Given the description of an element on the screen output the (x, y) to click on. 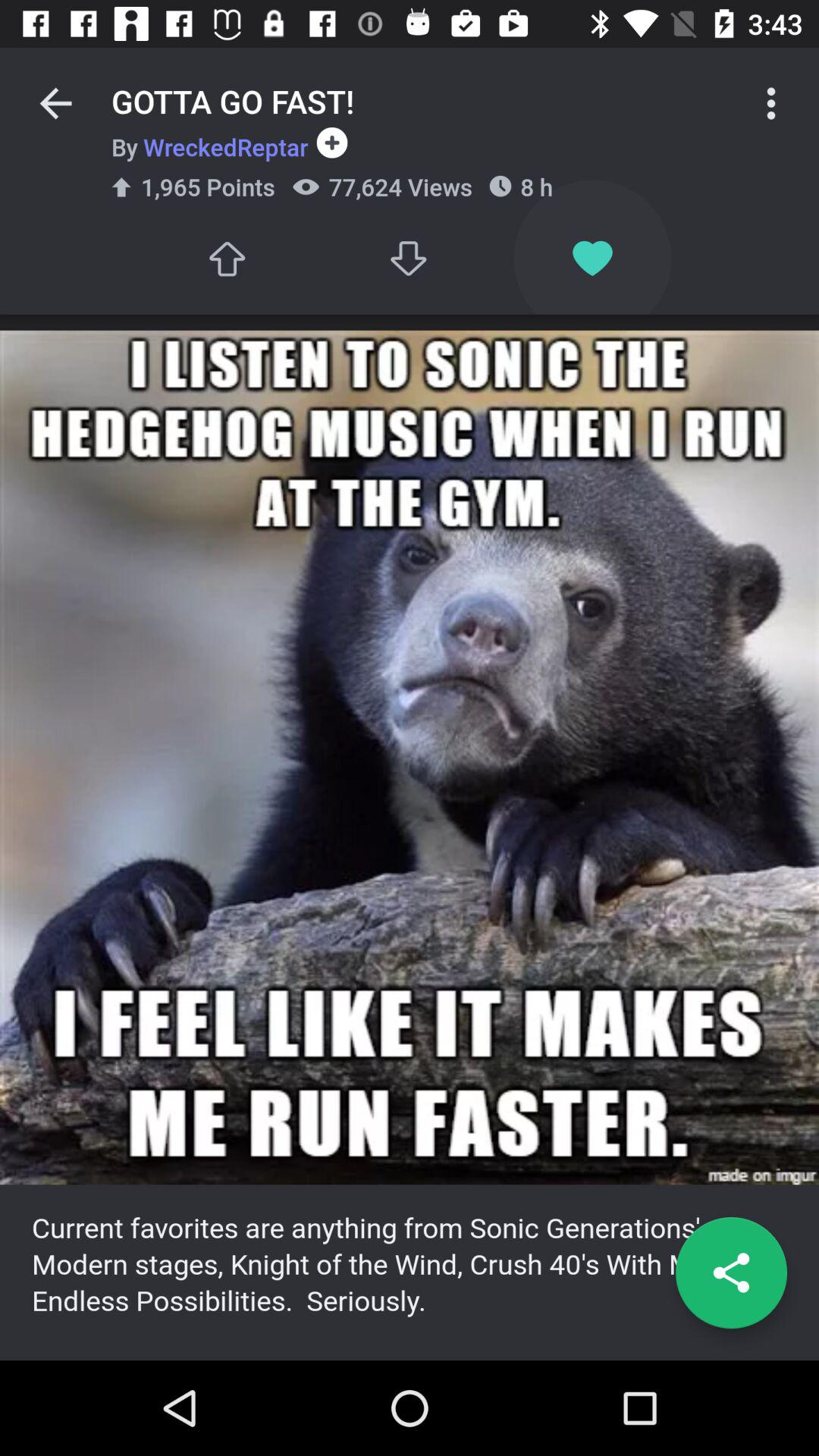
choose the item below gotta go fast! icon (209, 146)
